Given the description of an element on the screen output the (x, y) to click on. 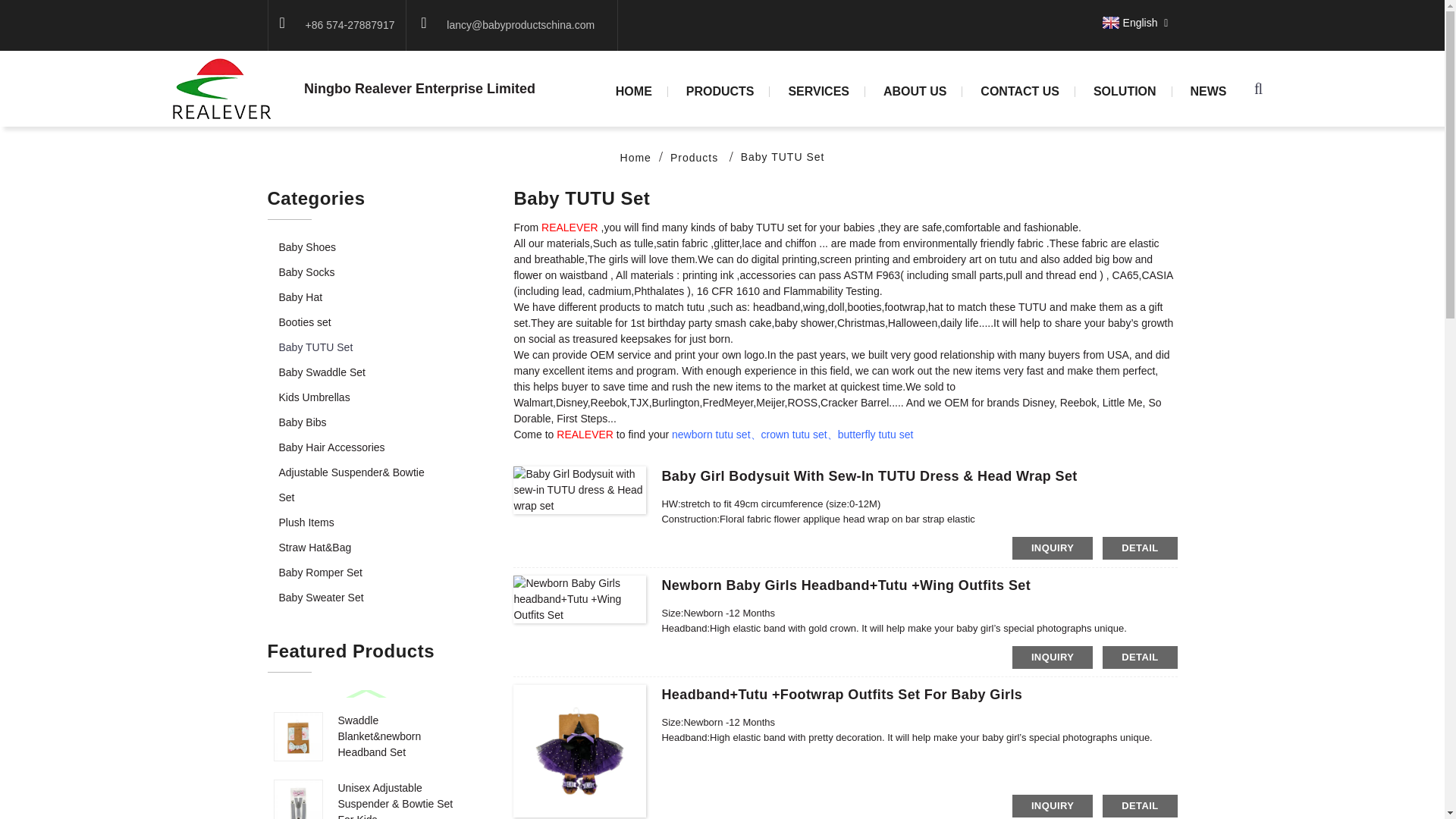
PRODUCTS (720, 91)
HOME (633, 91)
Products (693, 157)
English (1128, 22)
